Given the description of an element on the screen output the (x, y) to click on. 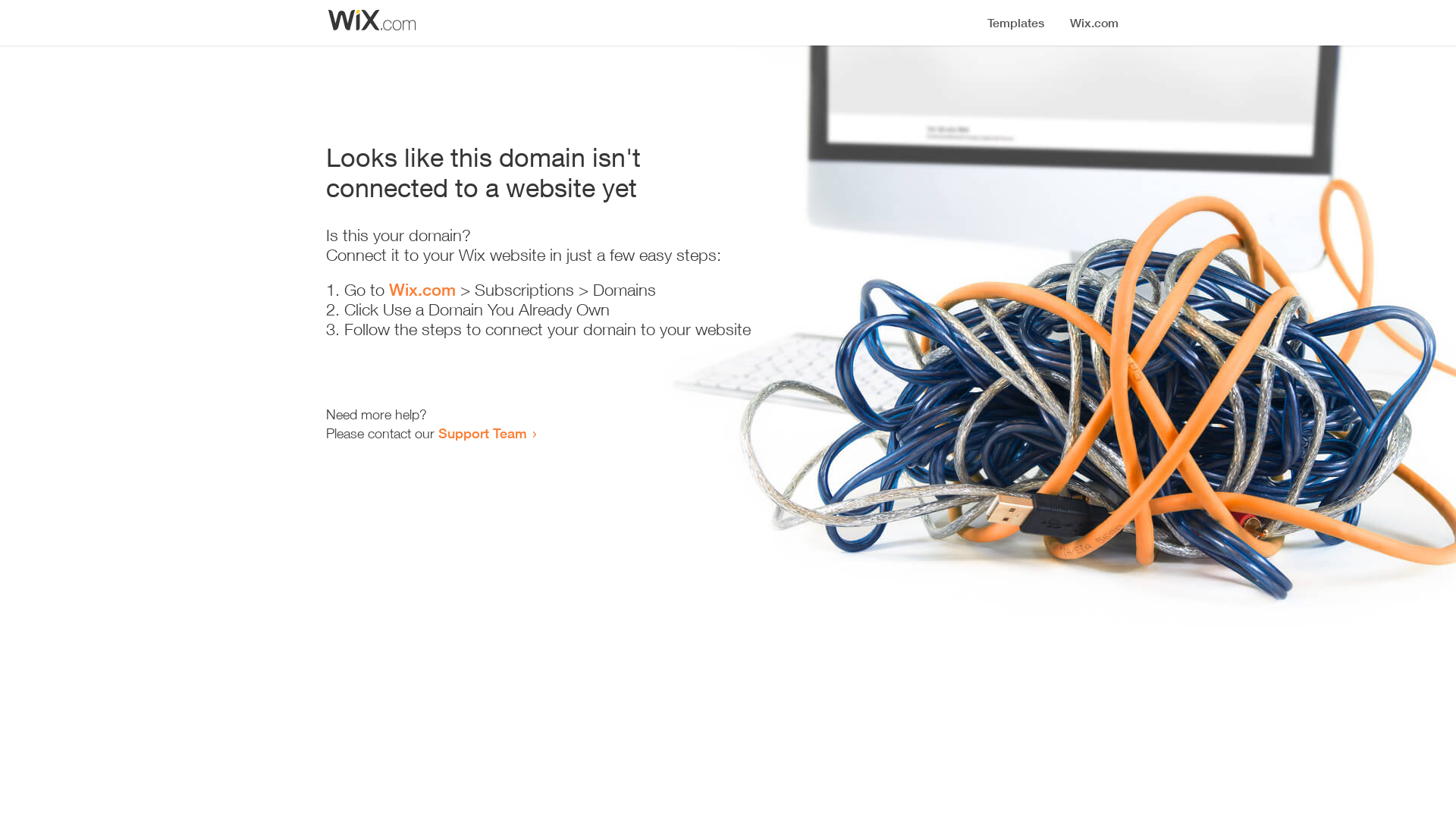
Wix.com Element type: text (422, 289)
Support Team Element type: text (482, 432)
